Given the description of an element on the screen output the (x, y) to click on. 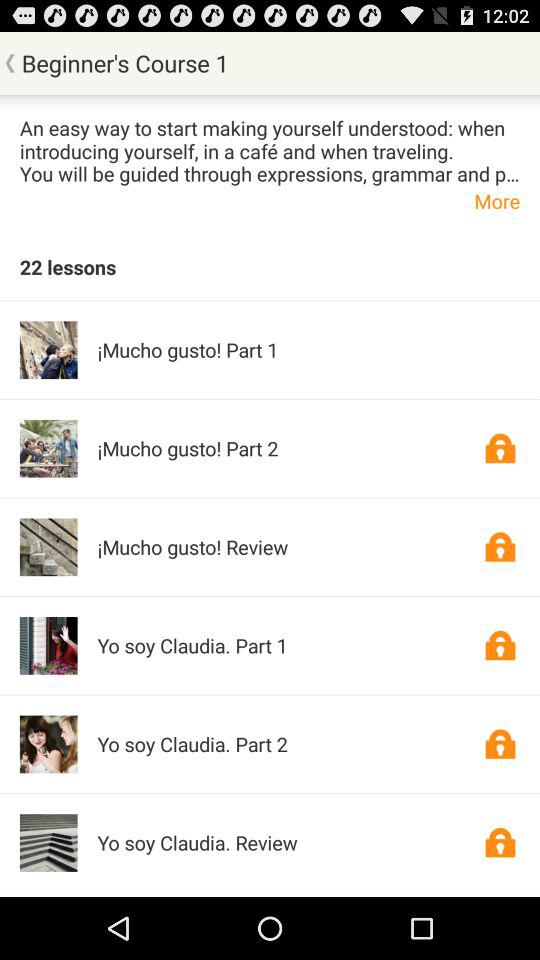
launch the app below the more icon (67, 266)
